Given the description of an element on the screen output the (x, y) to click on. 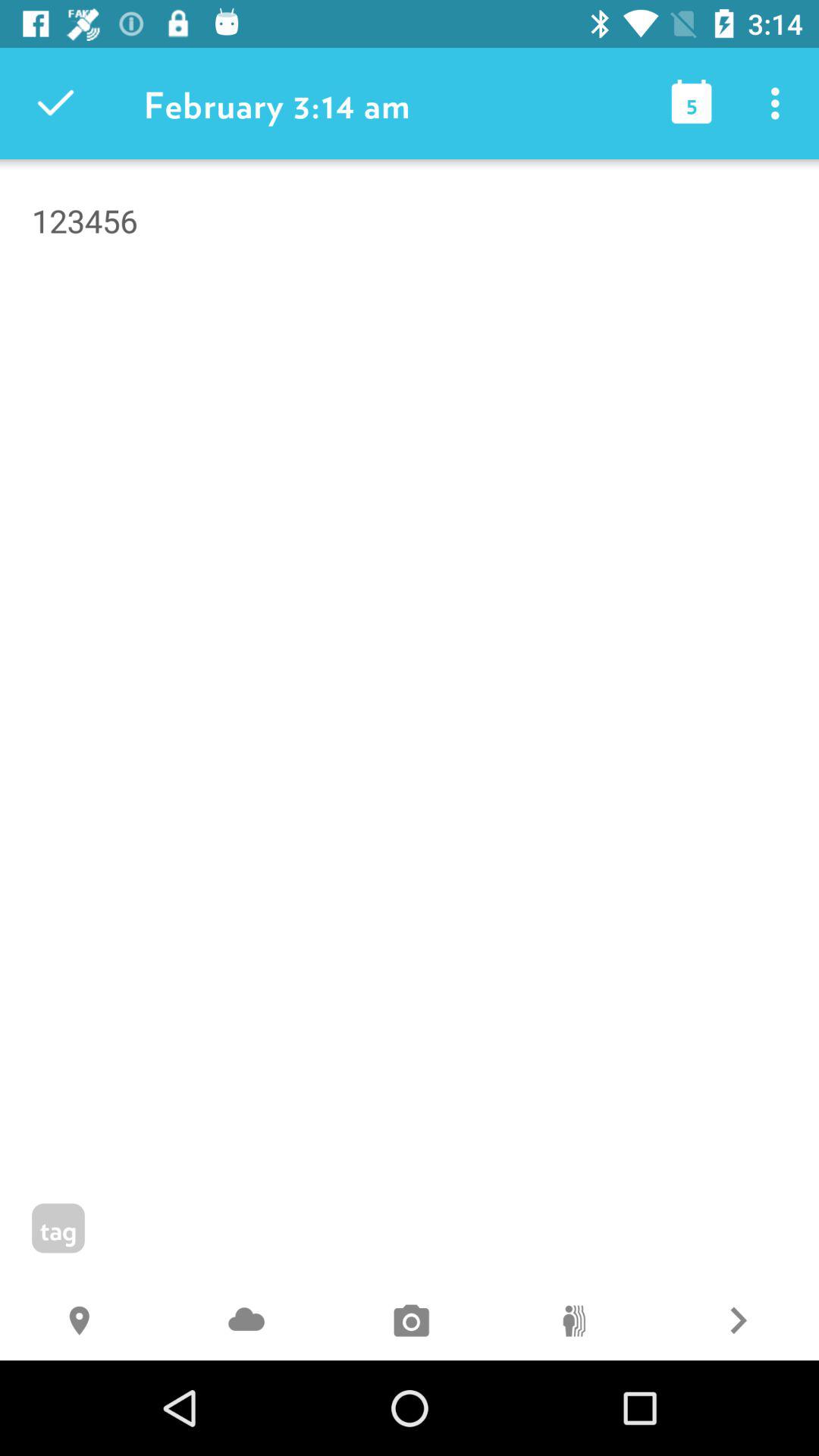
tap the h (81, 1322)
